Given the description of an element on the screen output the (x, y) to click on. 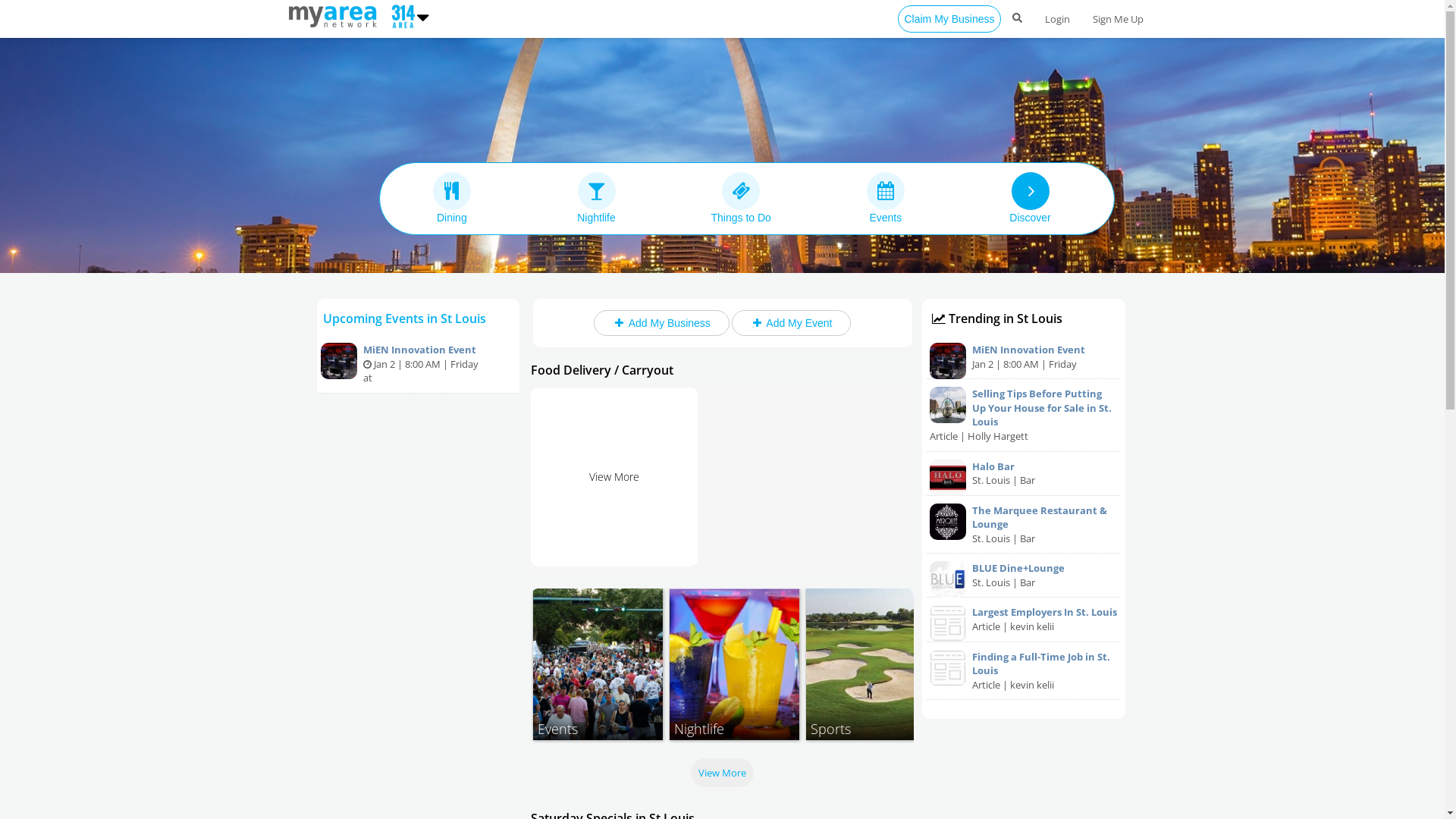
Sports Element type: text (870, 664)
Login Element type: text (1056, 18)
Largest Employers In St. Louis
Article | kevin kelii Element type: text (1023, 619)
Finding a Full-Time Job in St. Louis
Article | kevin kelii Element type: text (1023, 671)
Halo Bar
St. Louis | Bar Element type: text (1023, 473)
Events Element type: text (597, 664)
Upcoming Events in St Louis Element type: text (404, 318)
Dining Element type: text (451, 197)
The Marquee Restaurant & Lounge
St. Louis | Bar Element type: text (1023, 524)
Discover Element type: text (1029, 197)
Nightlife Element type: text (596, 197)
View More Element type: text (613, 476)
Things to Do Element type: text (740, 197)
Sign Me Up Element type: text (1117, 18)
Claim My Business Element type: text (948, 18)
MiEN Innovation Event
Jan 2 | 8:00 AM | Friday Element type: text (1023, 357)
https://www.314area.com Element type: hover (335, 15)
https://www.314area.com Element type: hover (400, 15)
Nightlife Element type: text (733, 664)
View More Element type: text (721, 772)
BLUE Dine+Lounge
St. Louis | Bar Element type: text (1023, 575)
Food Delivery / Carryout Element type: text (601, 369)
    Add My Business    Element type: text (661, 322)
Events Element type: text (885, 197)
MiEN Innovation Event
Jan 2 | 8:00 AM | Friday
at Element type: text (418, 364)
    Add My Event    Element type: text (790, 322)
